Given the description of an element on the screen output the (x, y) to click on. 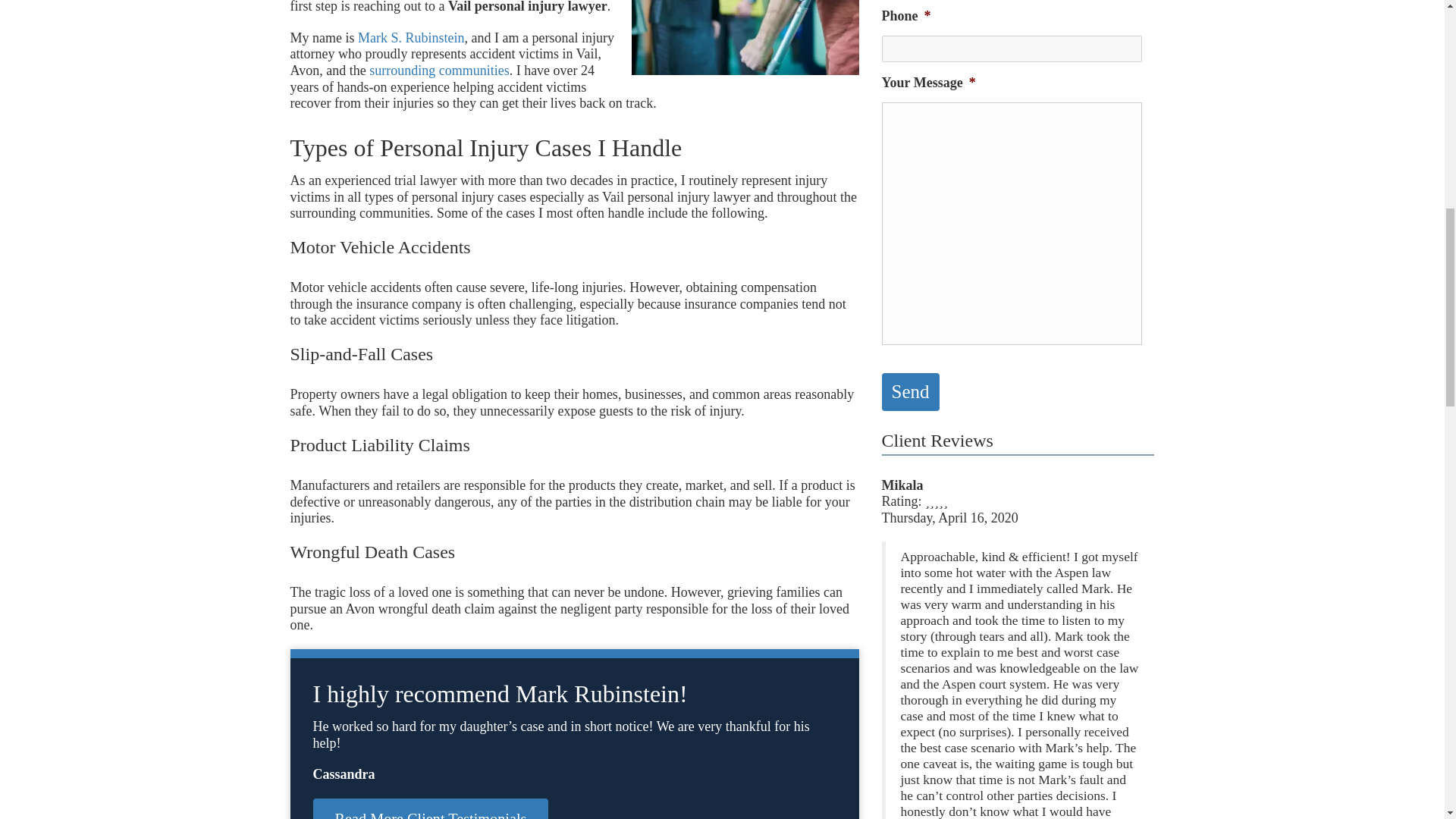
Mark S. Rubinstein (411, 37)
Read More Client Testimonials (430, 808)
Send (909, 392)
Send (909, 392)
surrounding communities (438, 70)
